Given the description of an element on the screen output the (x, y) to click on. 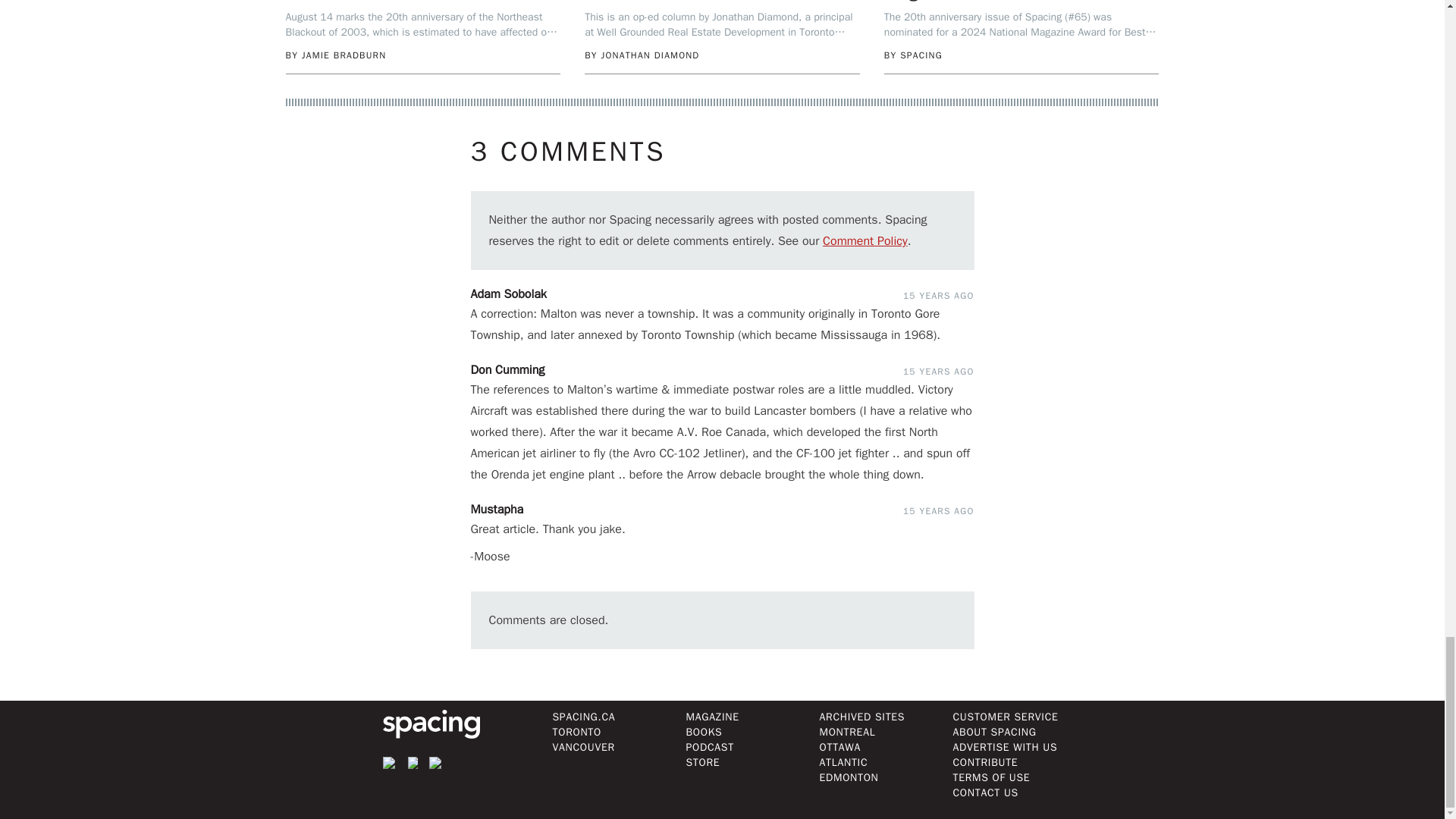
View all posts by Spacing (920, 55)
View all posts by Jonathan Diamond (648, 55)
View all posts by Jamie Bradburn (344, 55)
Permalink to Spacing nominated for National Magazine Award (1008, 1)
